Given the description of an element on the screen output the (x, y) to click on. 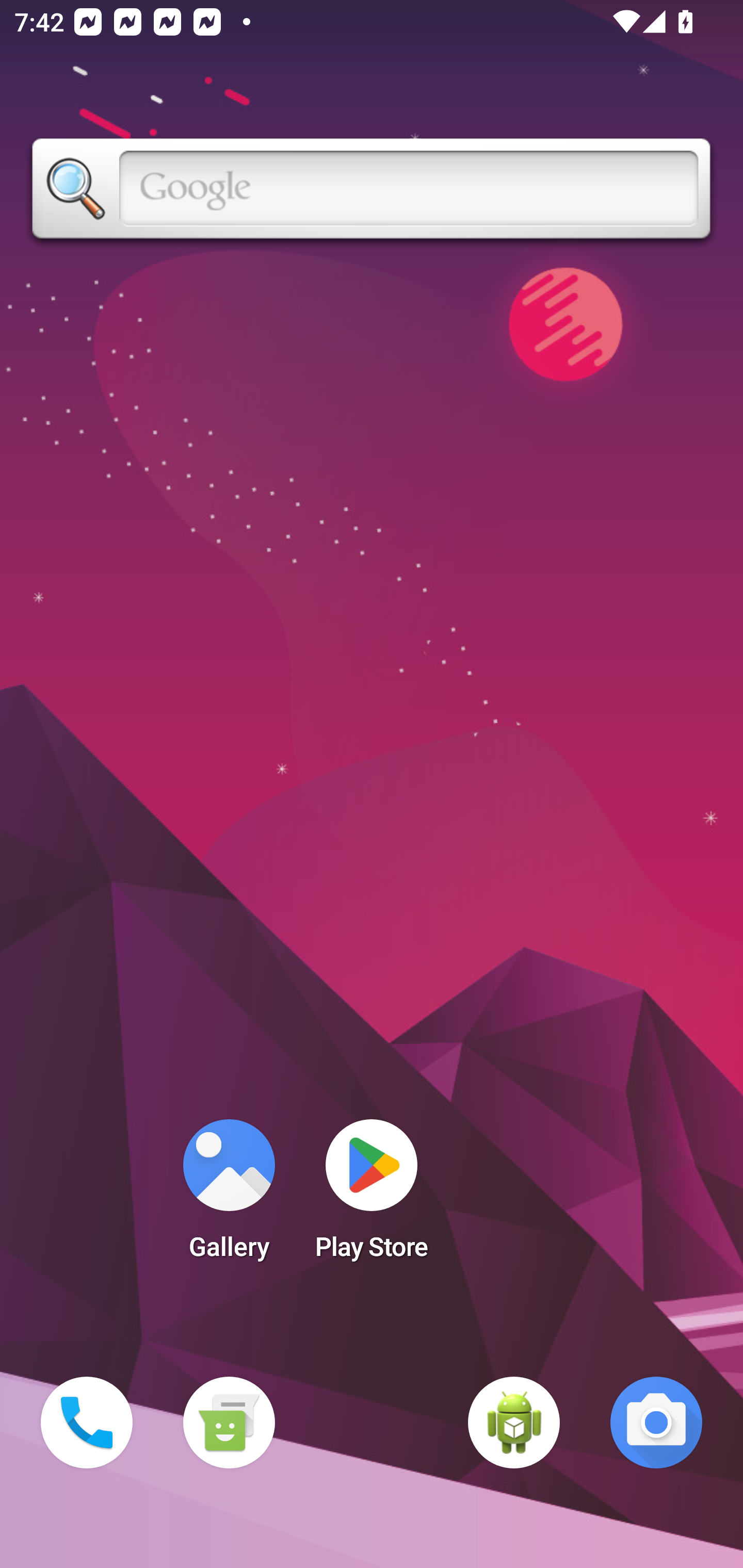
Gallery (228, 1195)
Play Store (371, 1195)
Phone (86, 1422)
Messaging (228, 1422)
WebView Browser Tester (513, 1422)
Camera (656, 1422)
